Given the description of an element on the screen output the (x, y) to click on. 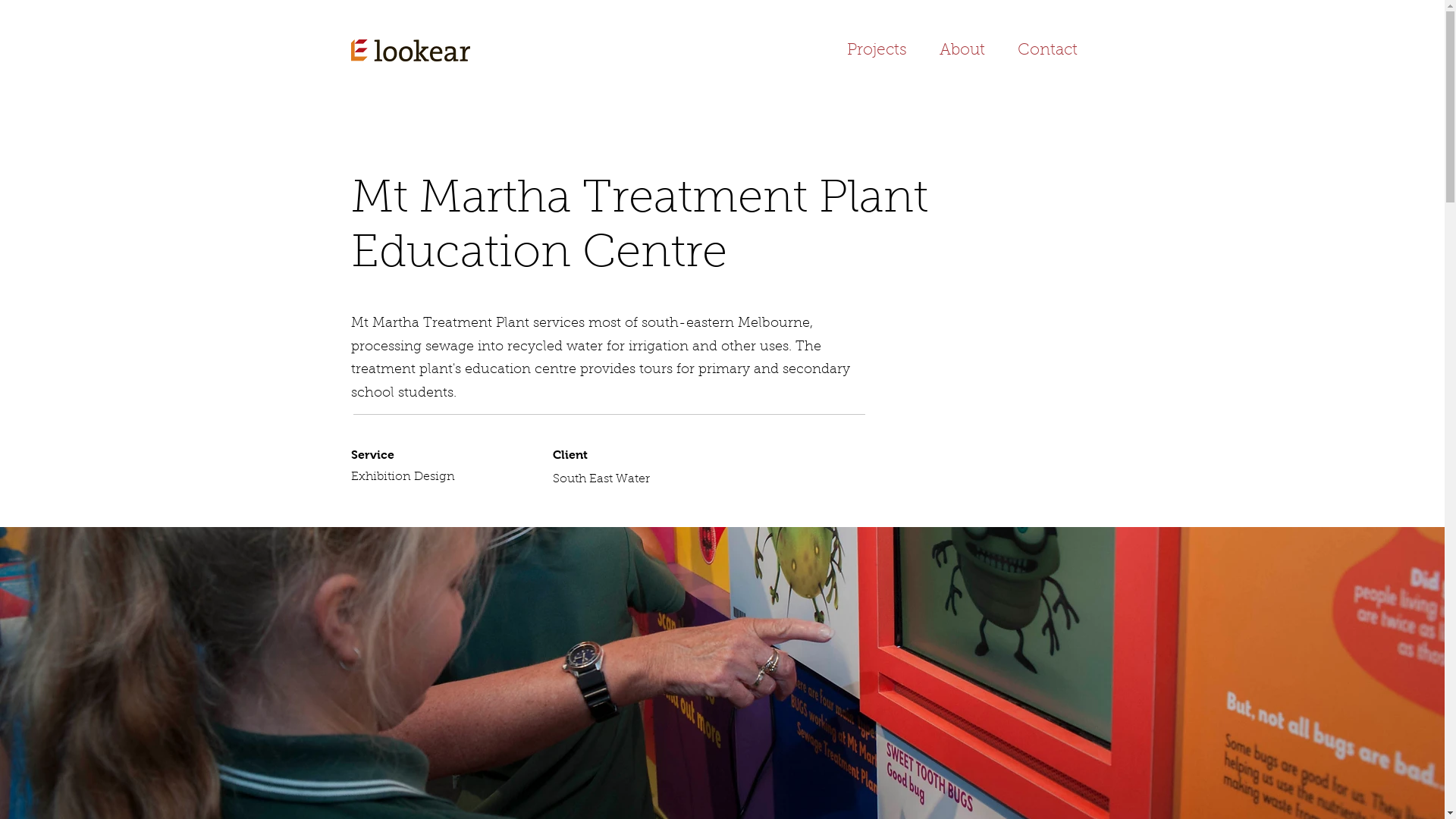
About Element type: text (962, 50)
Contact Element type: text (1047, 50)
Projects Element type: text (875, 50)
